Given the description of an element on the screen output the (x, y) to click on. 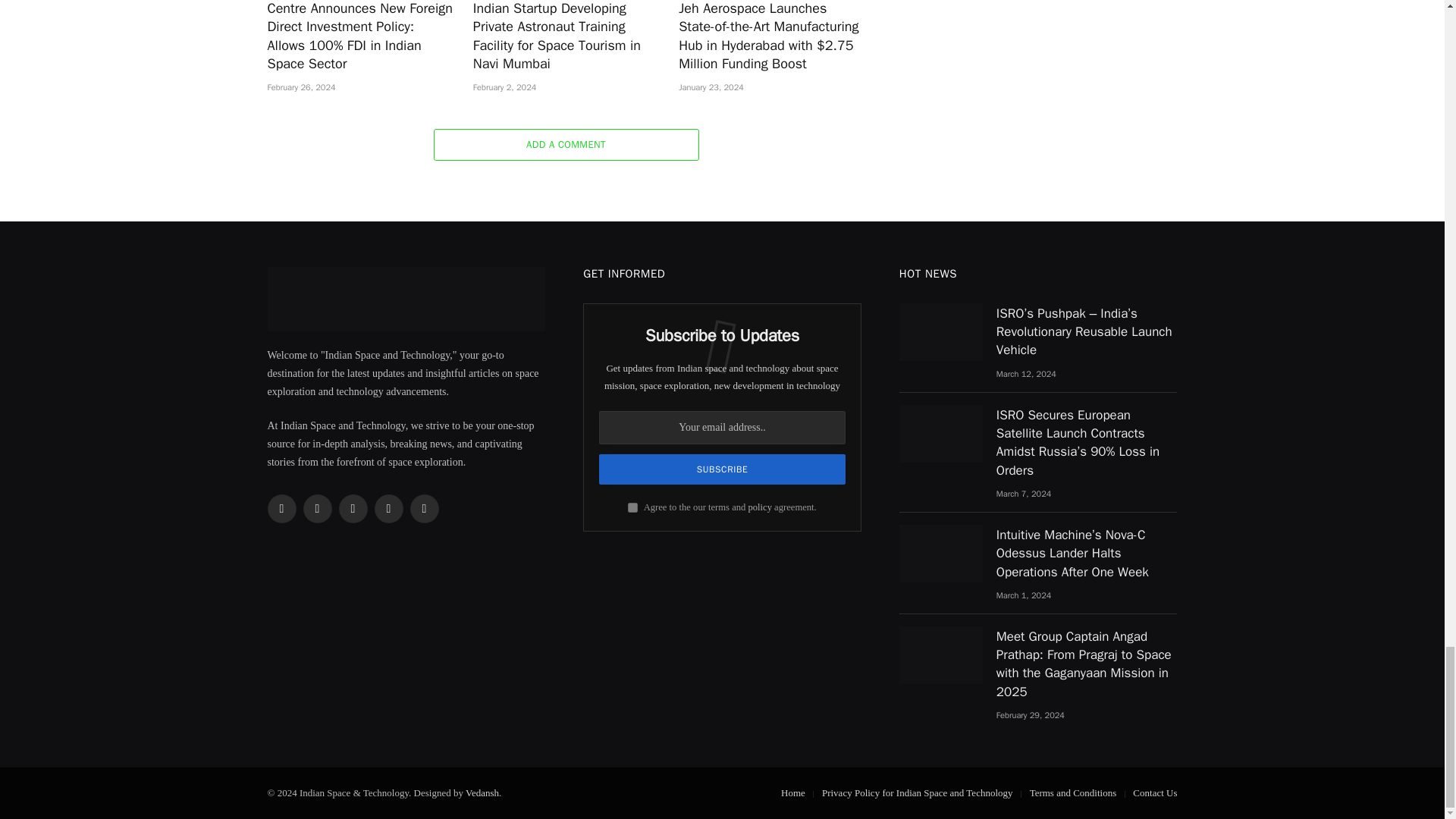
on (632, 507)
Subscribe (721, 469)
